Given the description of an element on the screen output the (x, y) to click on. 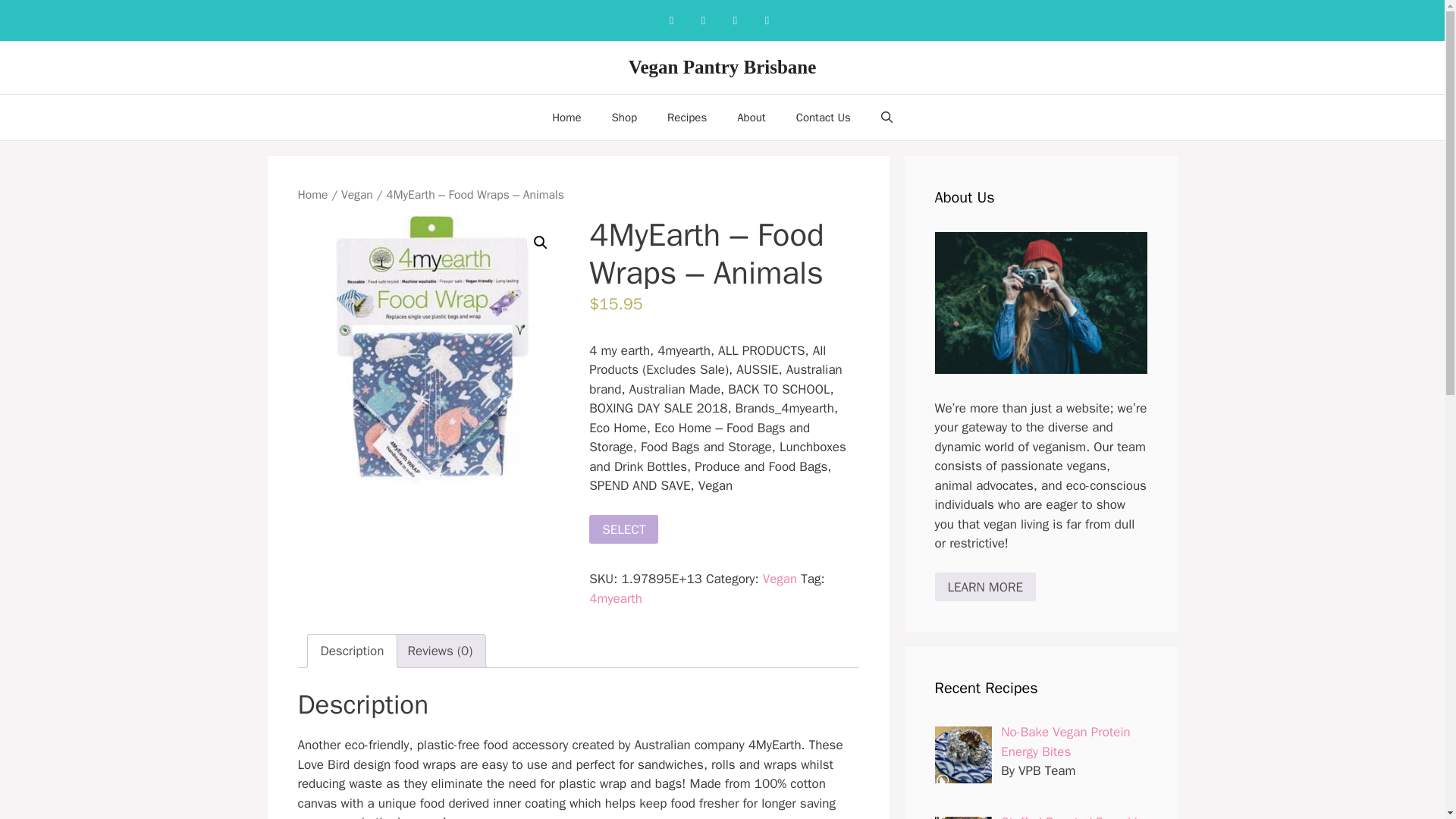
Instagram (703, 20)
Facebook (671, 20)
Vegan (356, 194)
SELECT (623, 529)
LEARN MORE (984, 586)
Home (566, 117)
Shop (624, 117)
Vegan (779, 578)
No-Bake Vegan Protein Energy Bites (1065, 741)
Contact Us (823, 117)
Recipes (687, 117)
Description (352, 650)
Twitter (766, 20)
Home (312, 194)
About (751, 117)
